Given the description of an element on the screen output the (x, y) to click on. 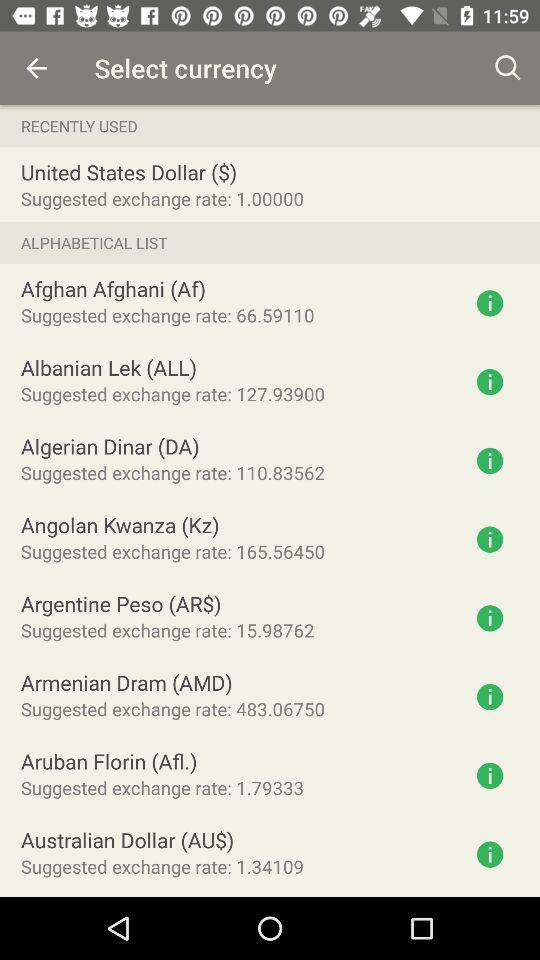
turn on icon next to the select currency (36, 68)
